Given the description of an element on the screen output the (x, y) to click on. 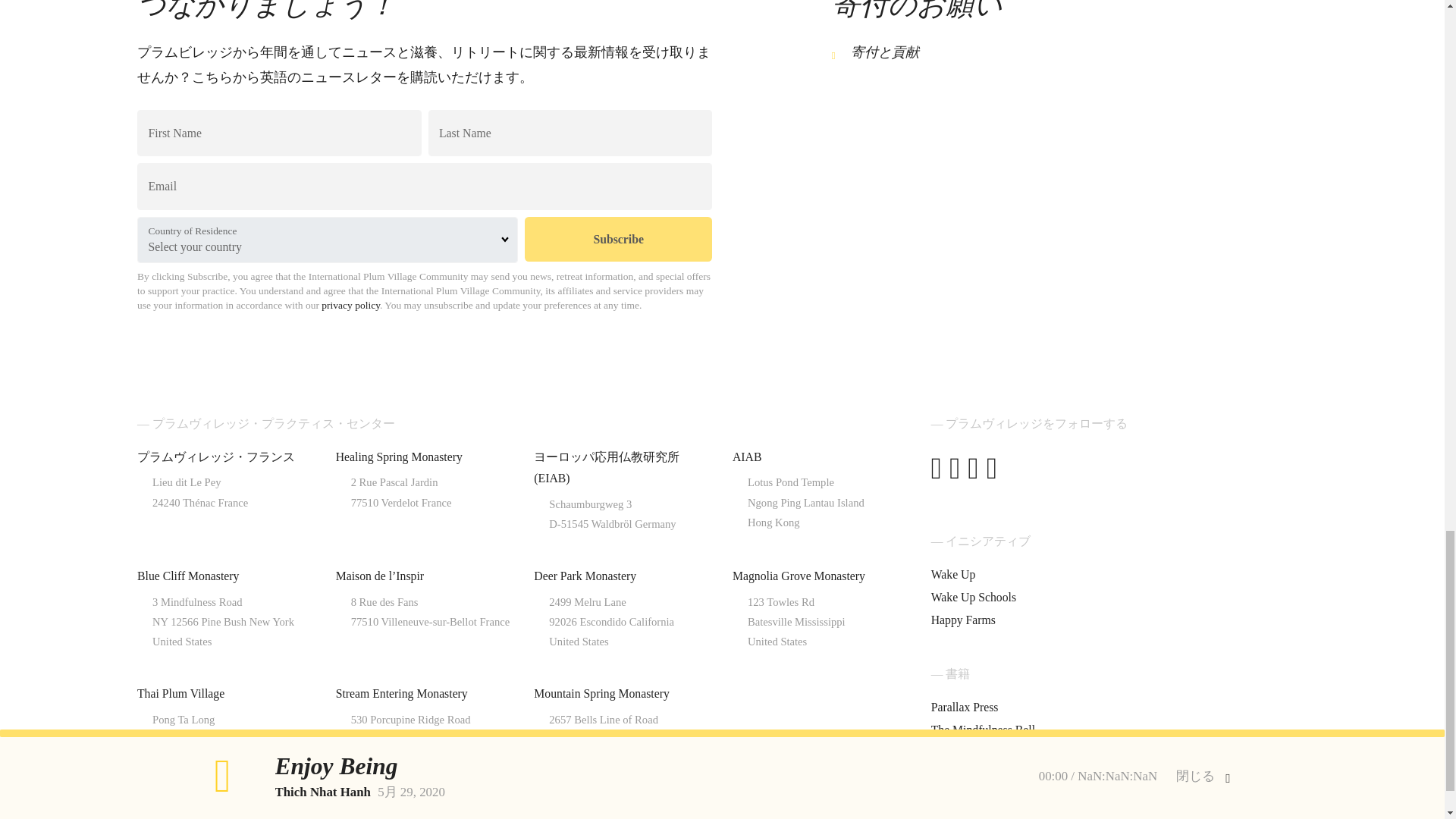
Subscribe (617, 239)
